Given the description of an element on the screen output the (x, y) to click on. 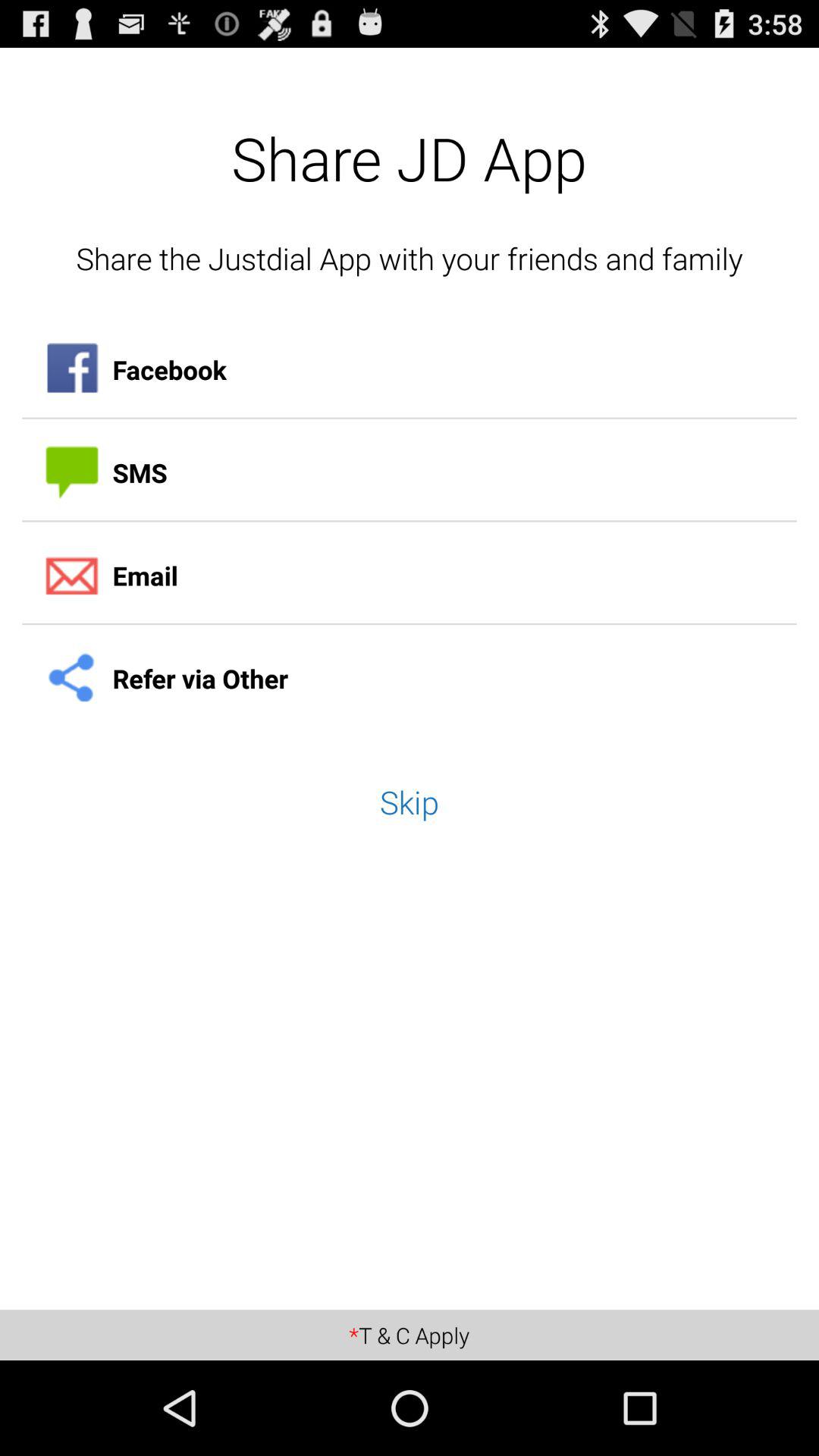
select the sms icon (409, 472)
